Given the description of an element on the screen output the (x, y) to click on. 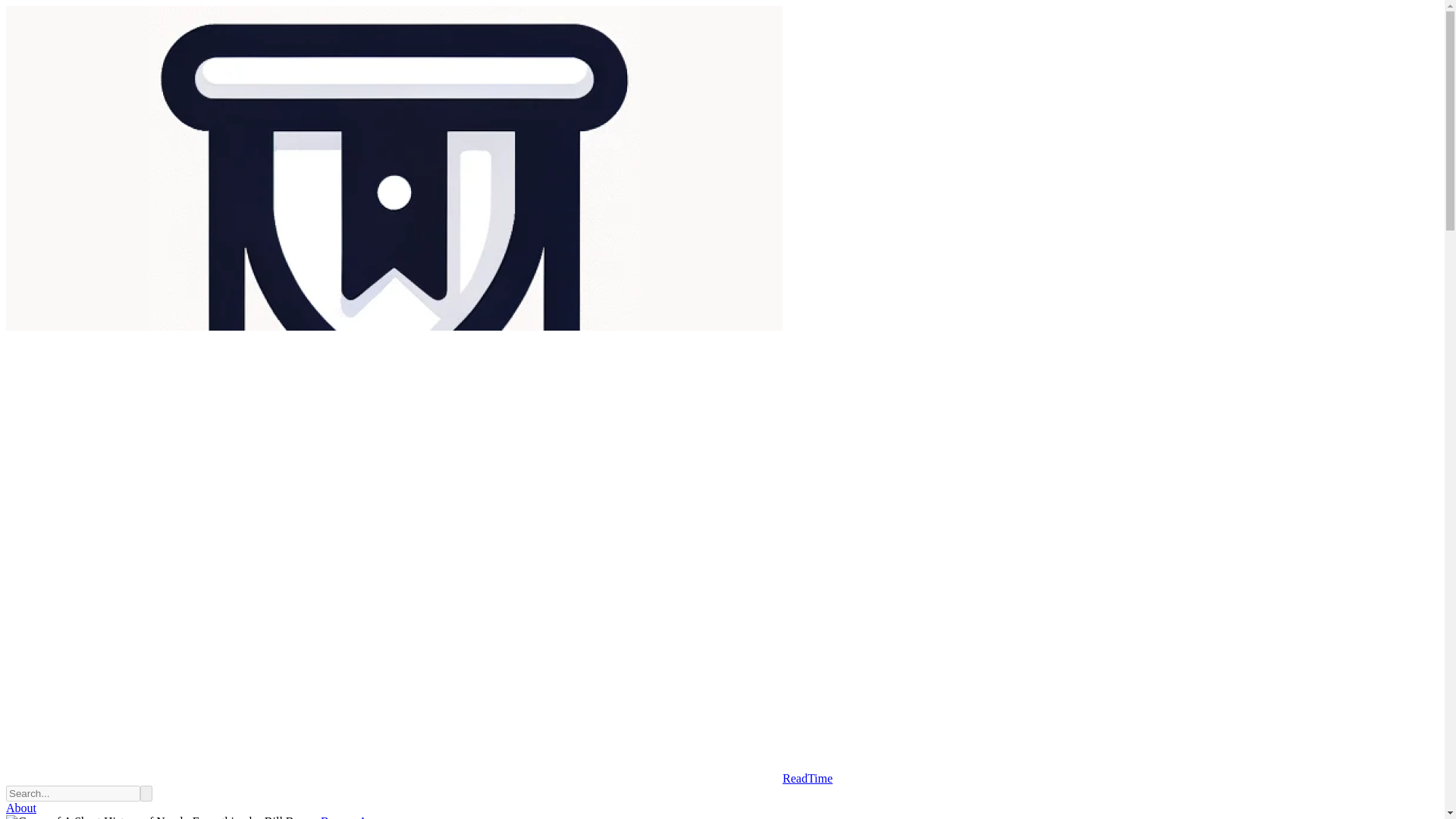
ReadTime (418, 778)
About (20, 807)
Buy on Amazon (359, 816)
